Given the description of an element on the screen output the (x, y) to click on. 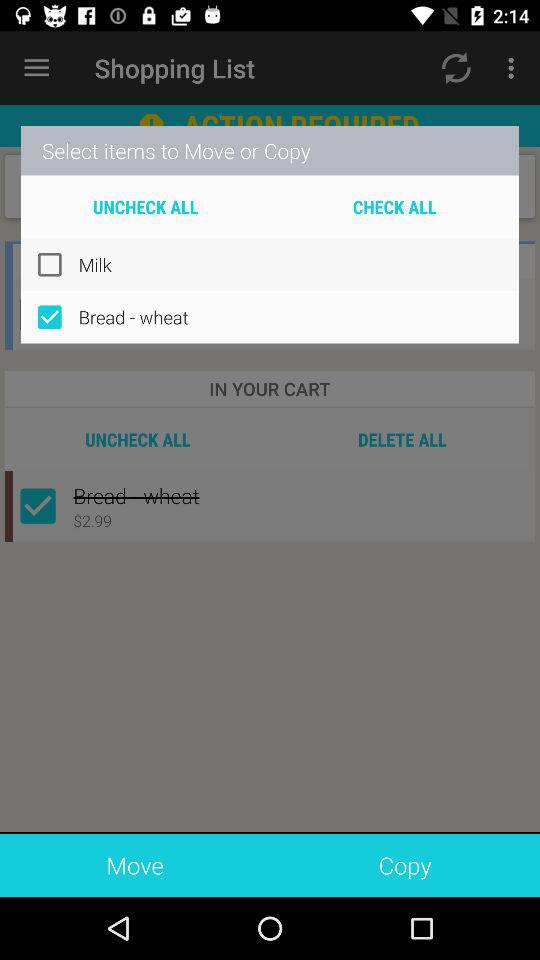
press check all (394, 206)
